Given the description of an element on the screen output the (x, y) to click on. 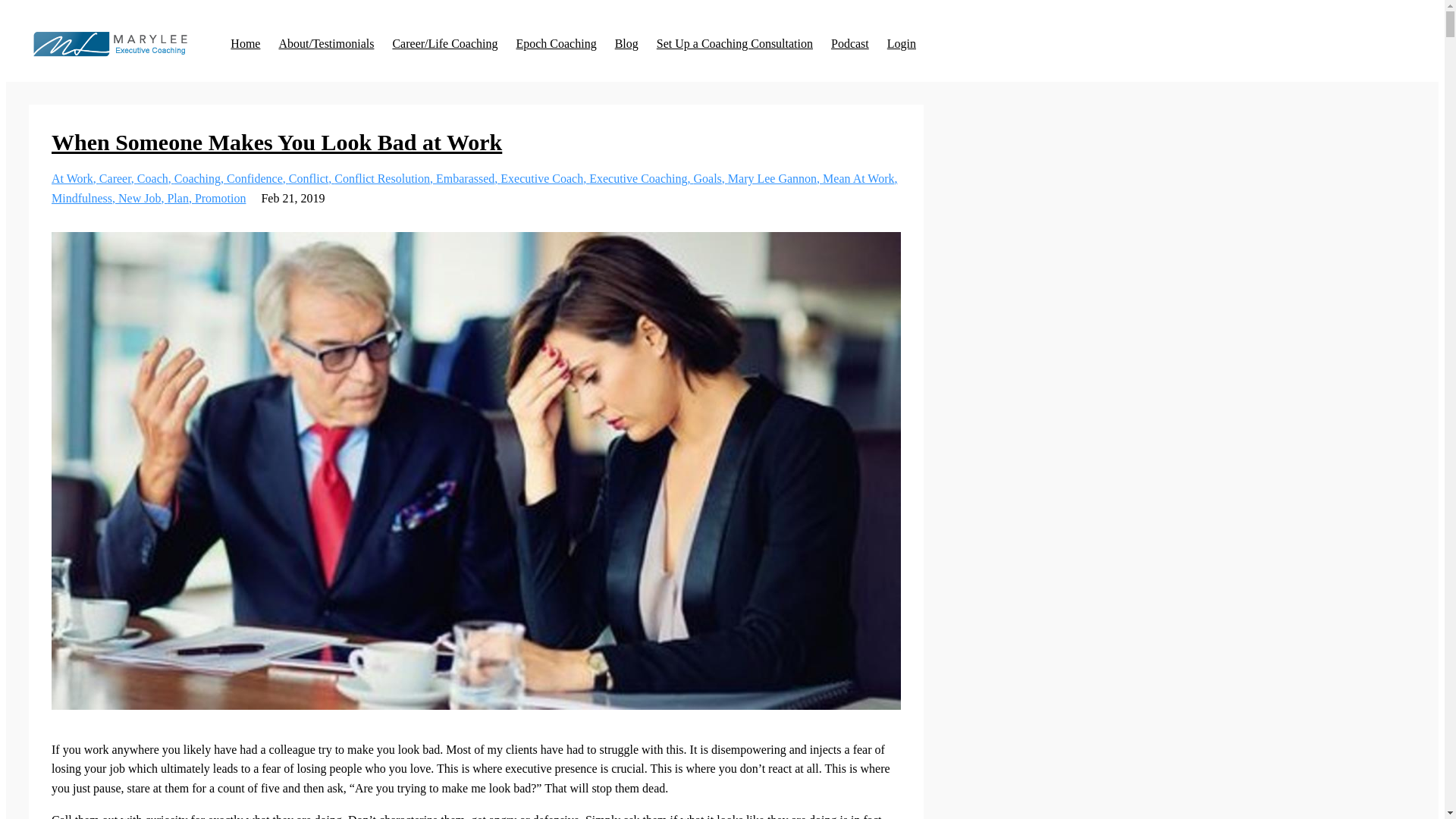
Set Up a Coaching Consultation (734, 43)
Executive Coach (544, 178)
New Job (142, 197)
Coach (155, 178)
Mindfulness (83, 197)
Promotion (220, 197)
Blog (626, 43)
When Someone Makes You Look Bad at Work (276, 141)
Goals (709, 178)
Home (245, 43)
Career (117, 178)
Coaching (200, 178)
Embarassed (467, 178)
Mary Lee Gannon (775, 178)
Podcast (850, 43)
